Given the description of an element on the screen output the (x, y) to click on. 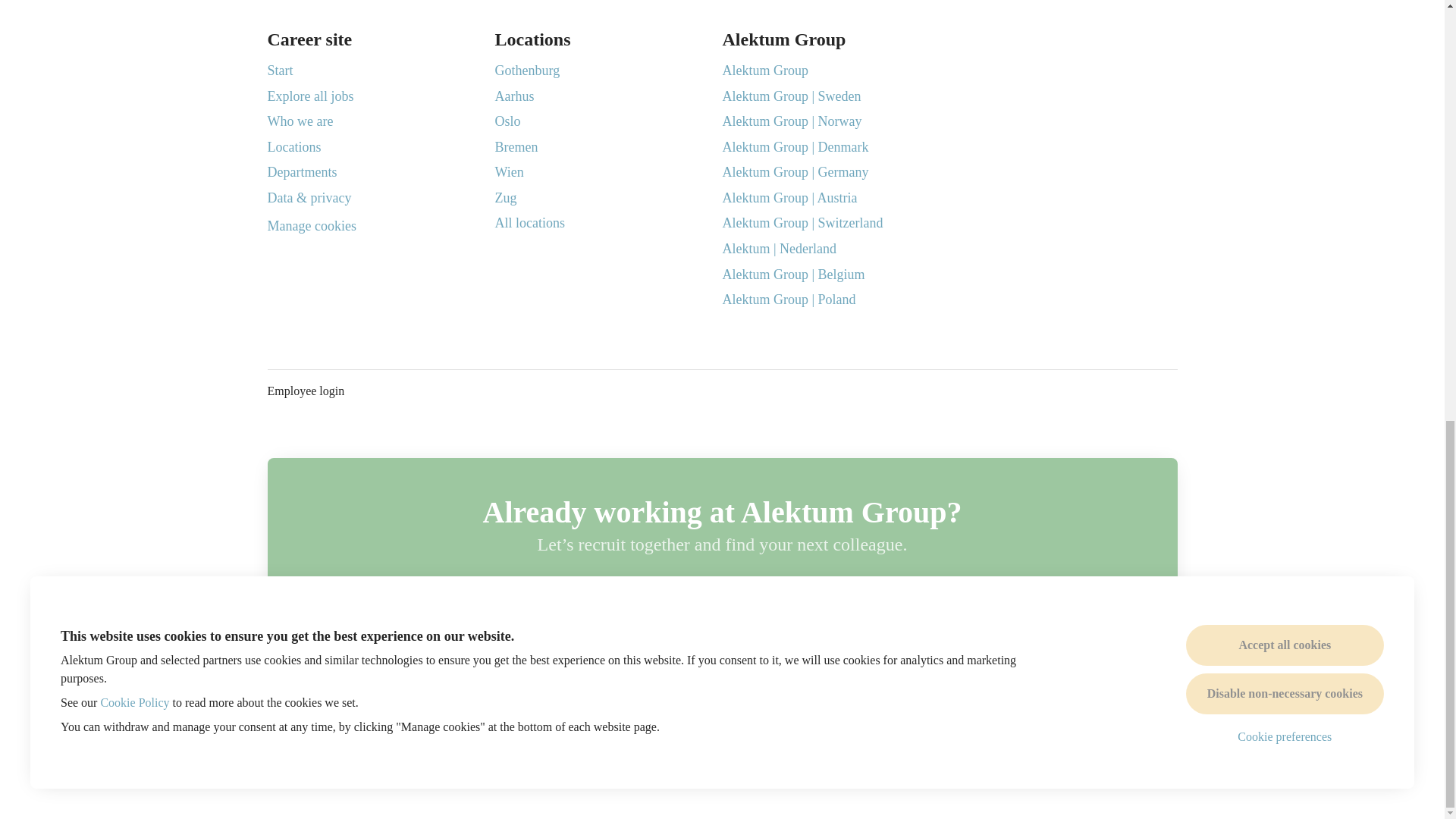
Manage cookies (310, 226)
Who we are (299, 120)
Departments (301, 171)
Locations (293, 147)
Gothenburg (527, 70)
Start (279, 70)
Log in (887, 599)
Explore all jobs (309, 96)
